Given the description of an element on the screen output the (x, y) to click on. 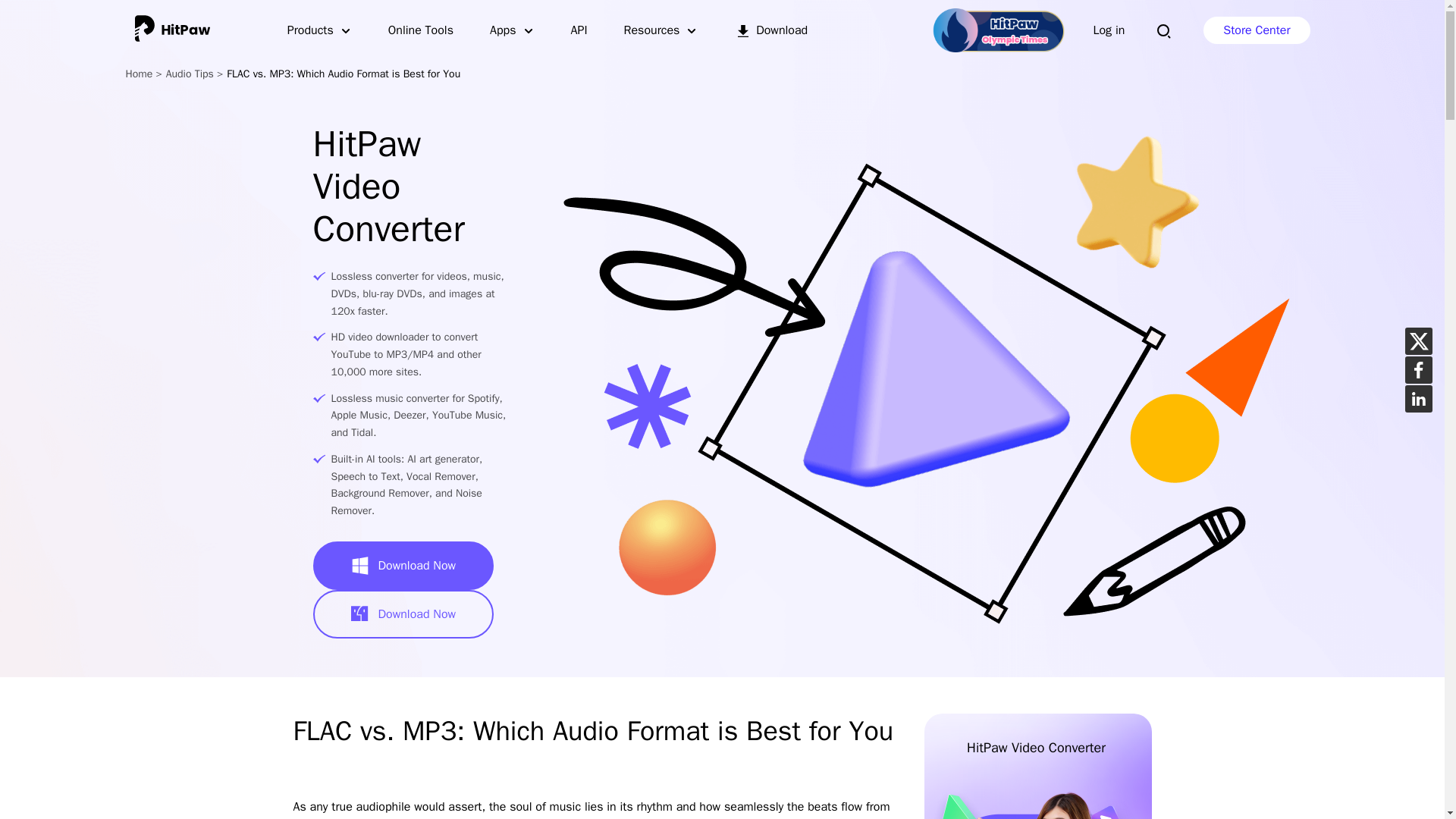
Products (319, 30)
Log in (1108, 30)
Store Center (1256, 30)
